Given the description of an element on the screen output the (x, y) to click on. 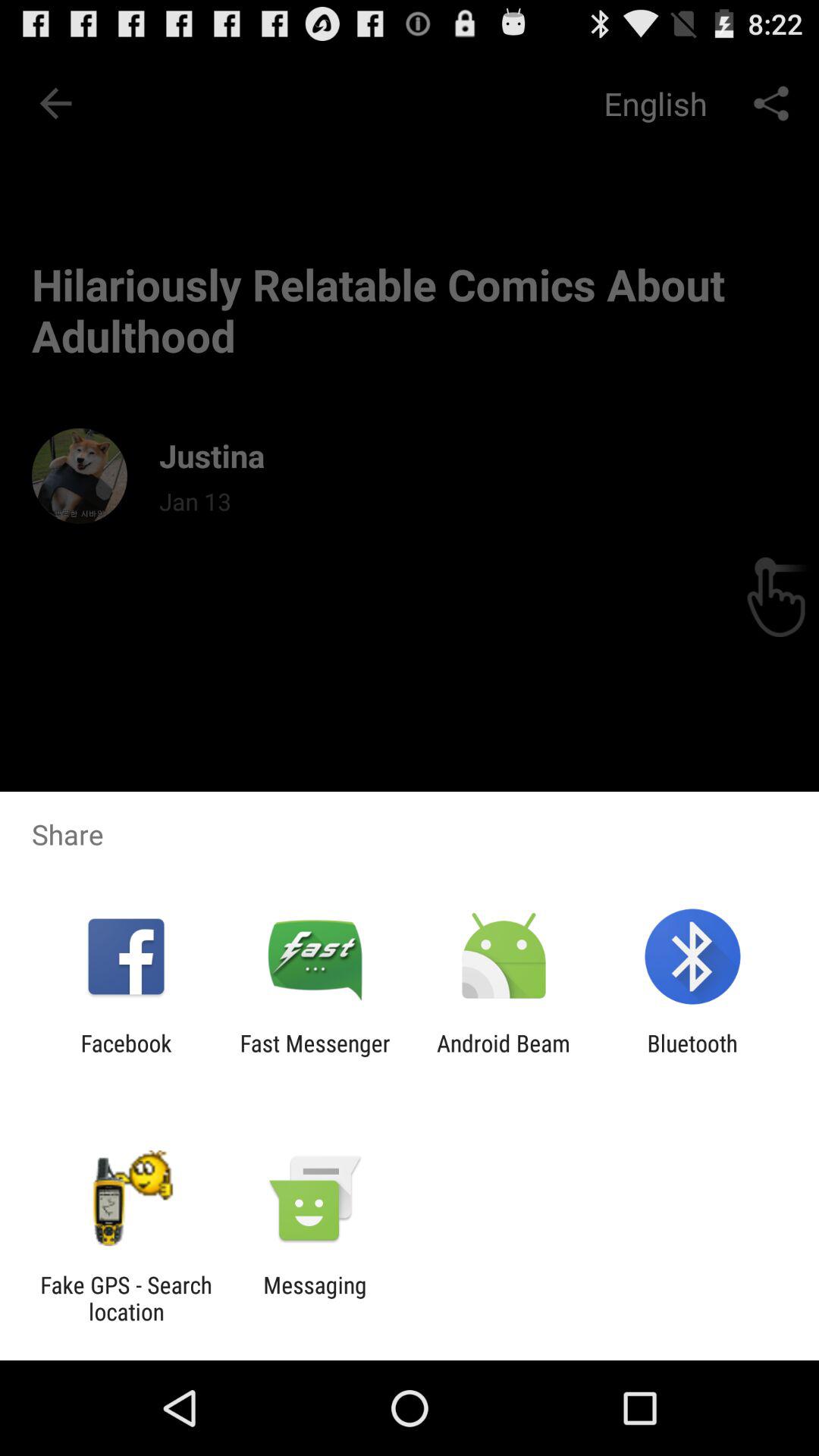
choose the app to the right of fast messenger item (503, 1056)
